Given the description of an element on the screen output the (x, y) to click on. 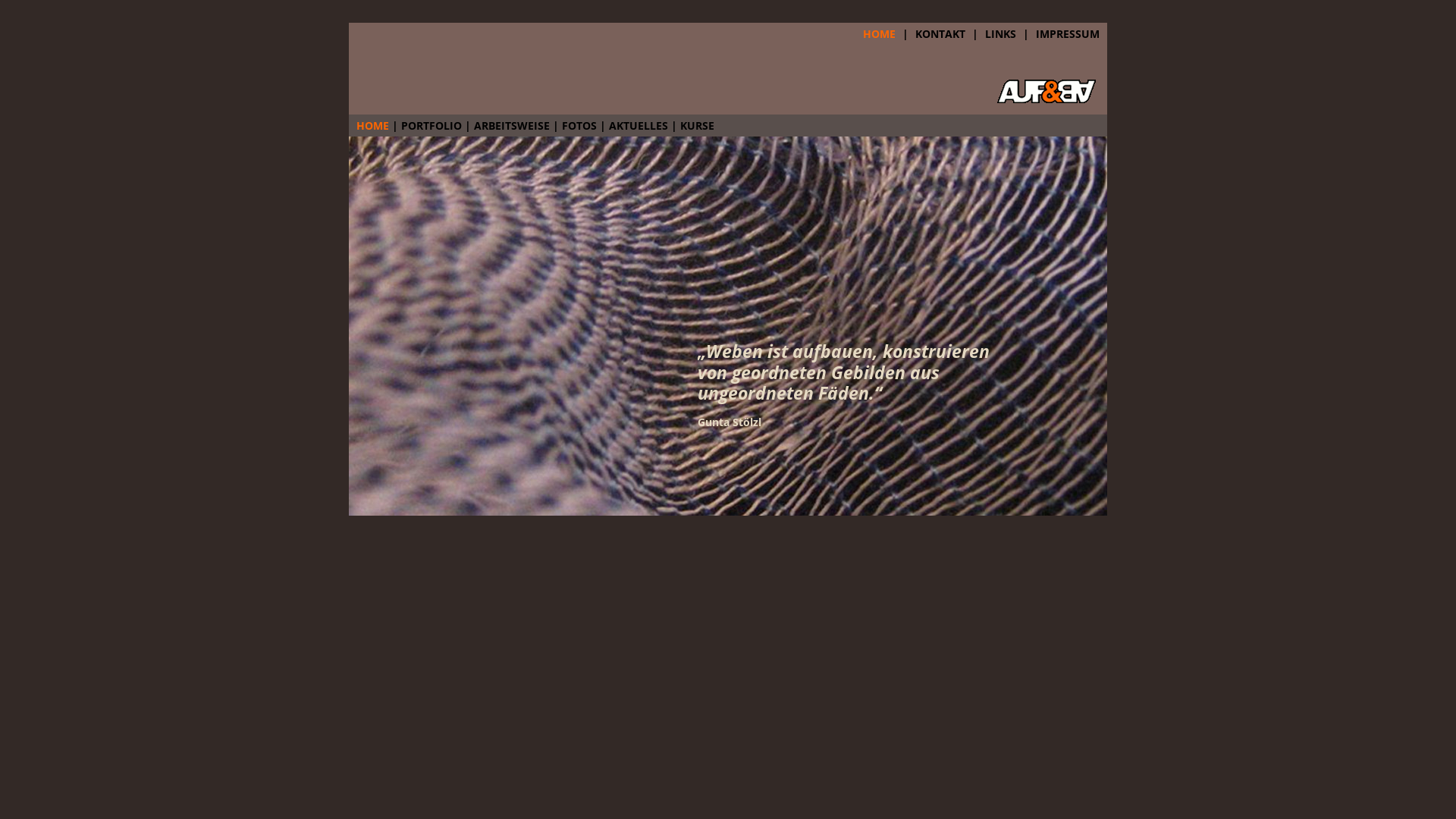
AKTUELLES Element type: text (638, 125)
LINKS Element type: text (1000, 33)
KURSE Element type: text (697, 125)
IMPRESSUM Element type: text (1067, 33)
KONTAKT Element type: text (940, 33)
  Element type: text (1102, 52)
FOTOS Element type: text (578, 125)
PORTFOLIO Element type: text (431, 125)
ARBEITSWEISE Element type: text (511, 125)
Home Element type: hover (1046, 98)
